Given the description of an element on the screen output the (x, y) to click on. 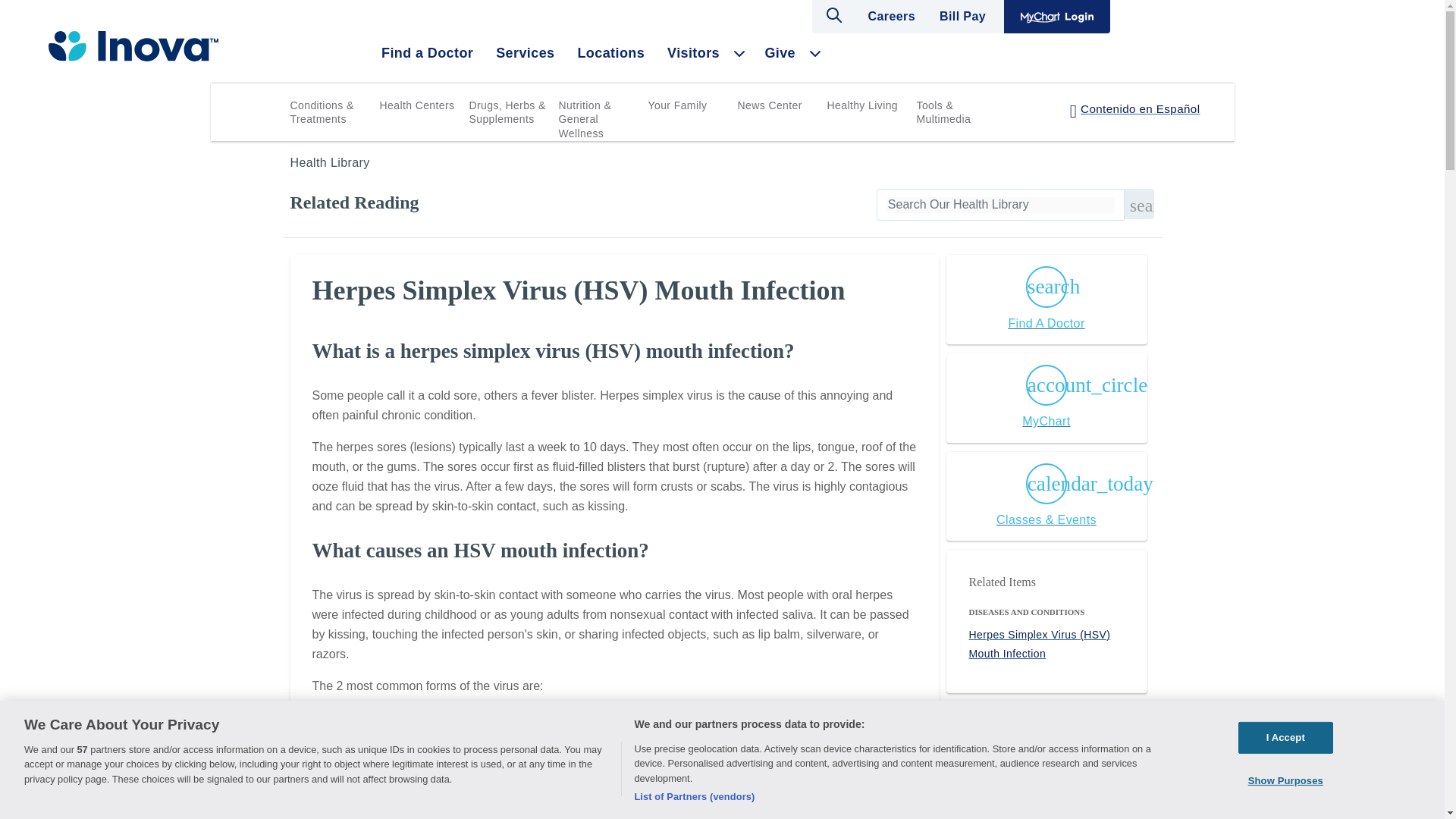
Give (779, 53)
Careers (891, 16)
Careers - opens in a new window (891, 16)
Open search dialog (833, 15)
Visitors (693, 53)
Locations (610, 53)
Find a Doctor (427, 53)
Services (524, 53)
Locations (610, 53)
MyChart Login - opens in a new window (1056, 16)
Visitors (693, 53)
Services (524, 53)
Bill Pay (962, 16)
MyChart Login (1056, 16)
